Given the description of an element on the screen output the (x, y) to click on. 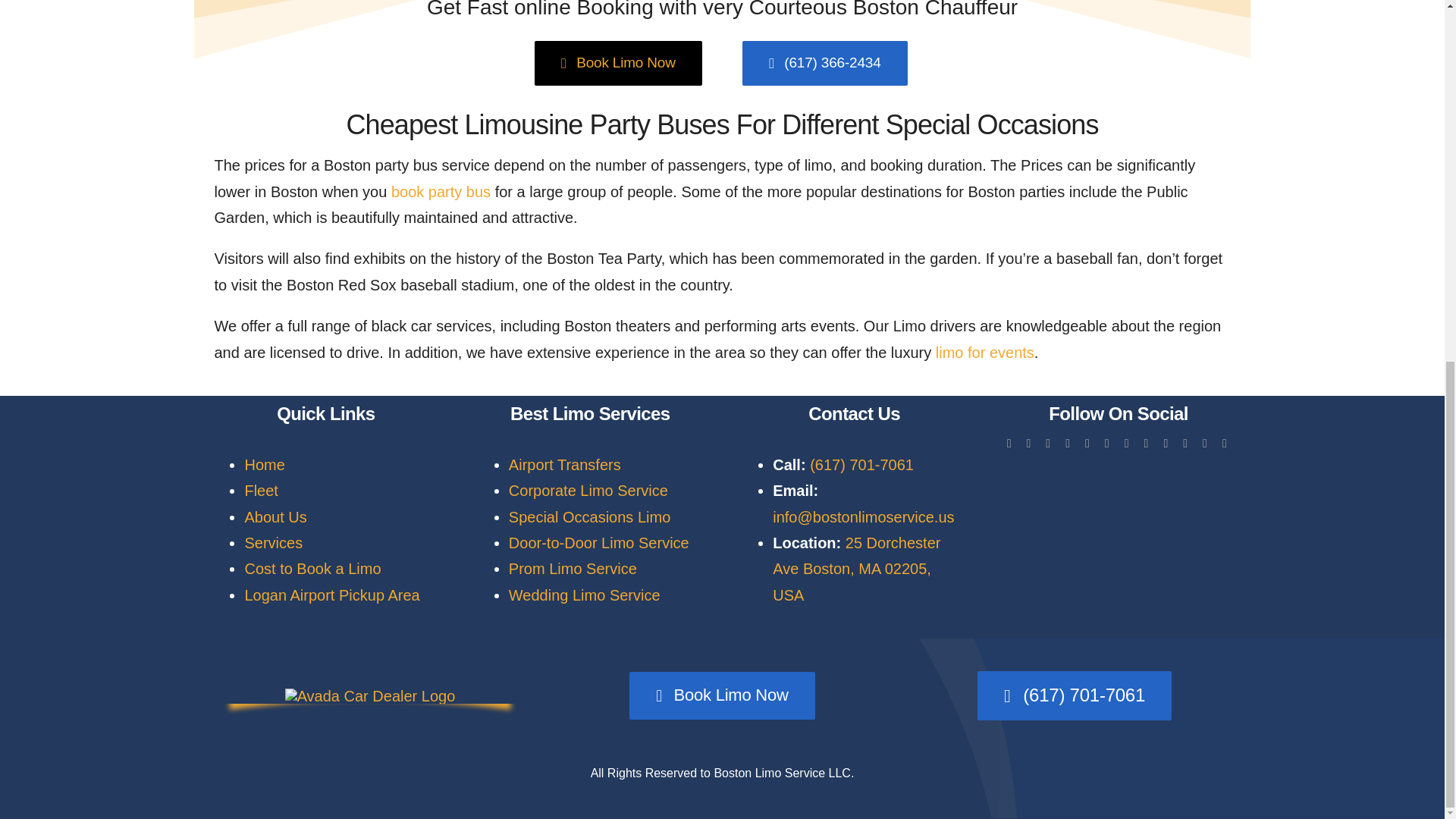
Special Occasions Limo (588, 516)
Fleet (261, 490)
Home (263, 464)
book party bus (440, 191)
Door-to-Door Limo Service (598, 542)
Corporate Limo Service (588, 490)
25 Dorchester Ave Boston, MA 02205, USA (856, 568)
Airport Transfers (564, 464)
Book Limo Now (617, 62)
limo for events (984, 352)
